Given the description of an element on the screen output the (x, y) to click on. 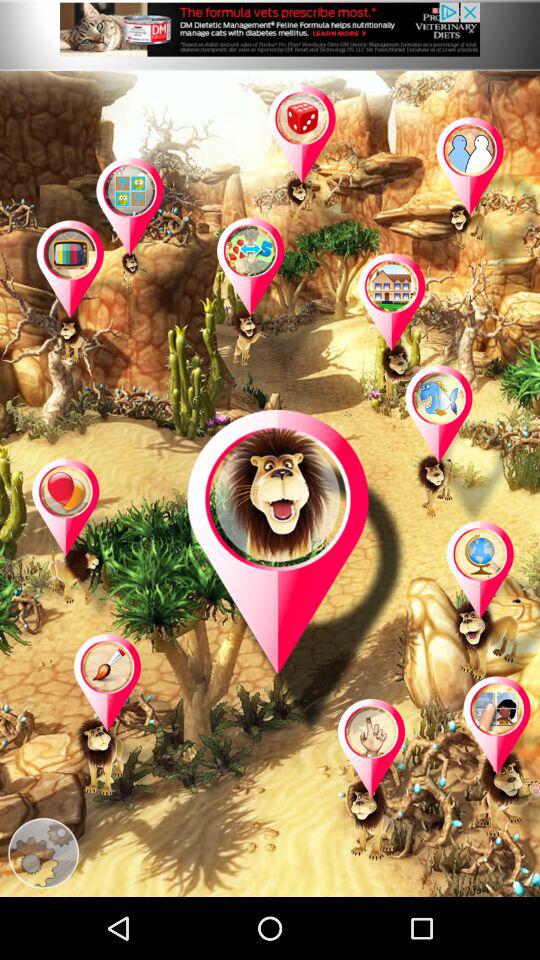
game page (271, 299)
